Given the description of an element on the screen output the (x, y) to click on. 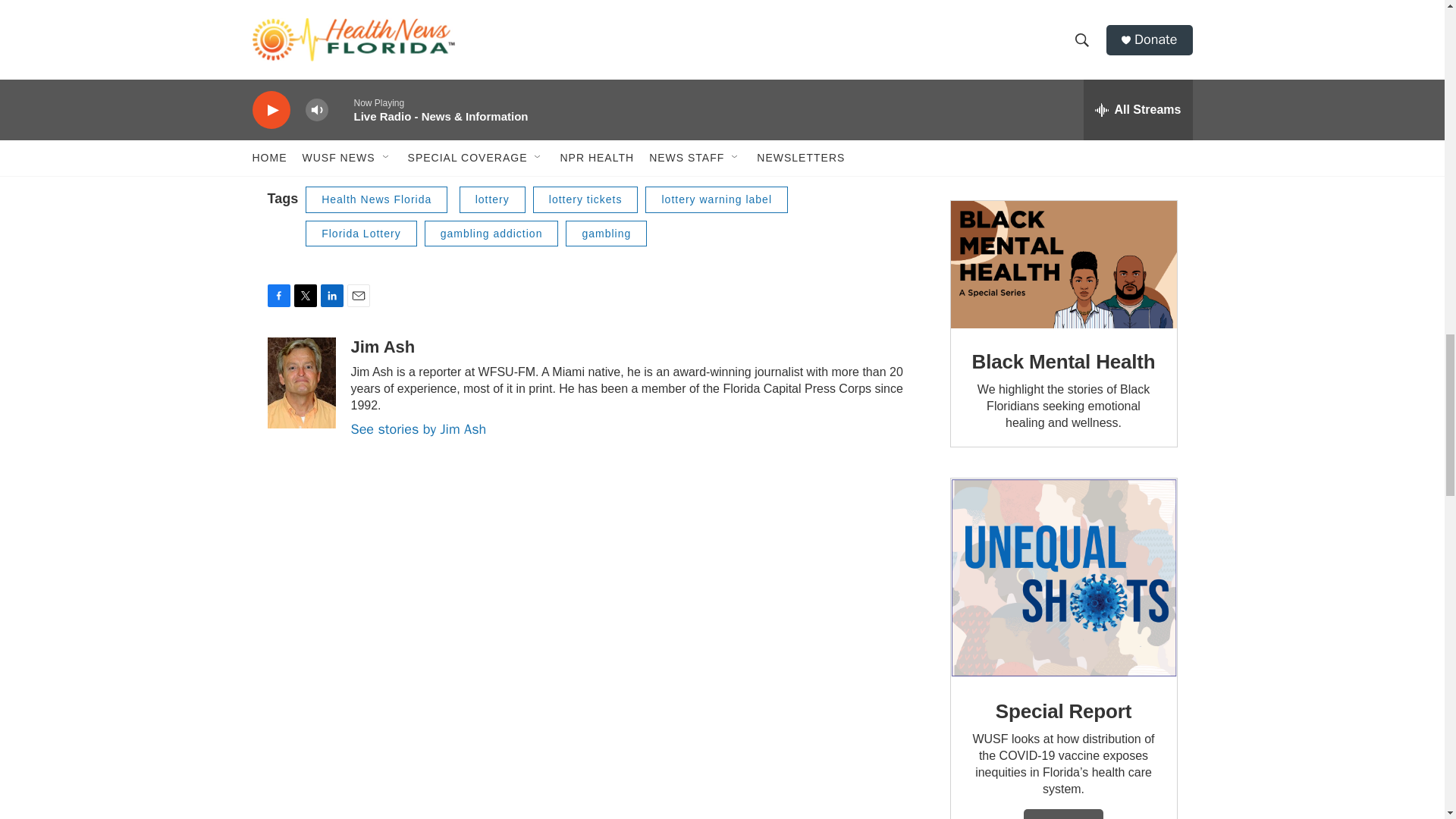
3rd party ad content (1062, 84)
